Given the description of an element on the screen output the (x, y) to click on. 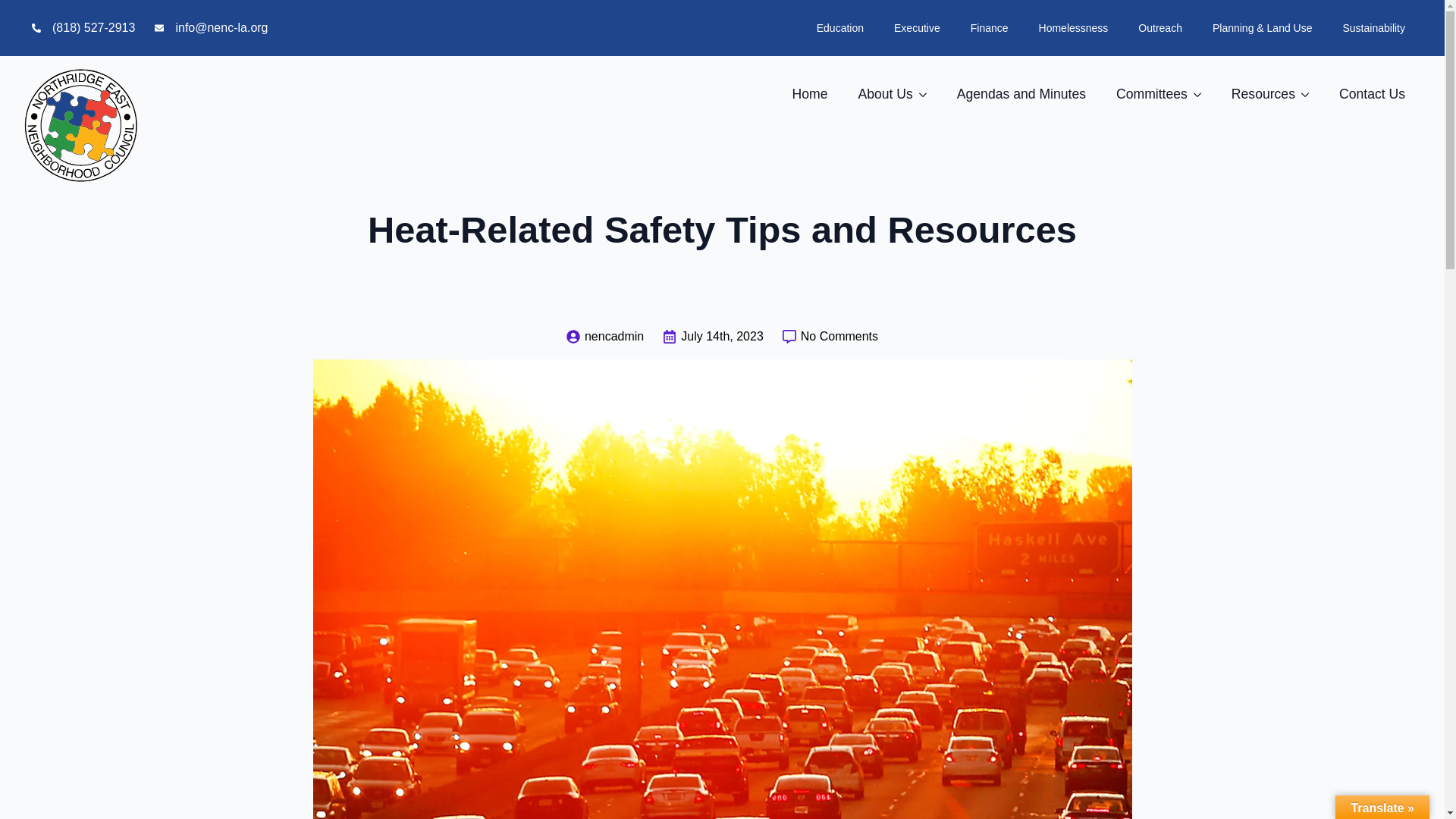
Committees (1144, 94)
Homelessness (1073, 27)
Education (840, 27)
Home (809, 94)
Outreach (1159, 27)
Agendas and Minutes (1021, 94)
Sustainability (1373, 27)
Resources (1255, 94)
Executive (917, 27)
Finance (989, 27)
About Us (877, 94)
